Given the description of an element on the screen output the (x, y) to click on. 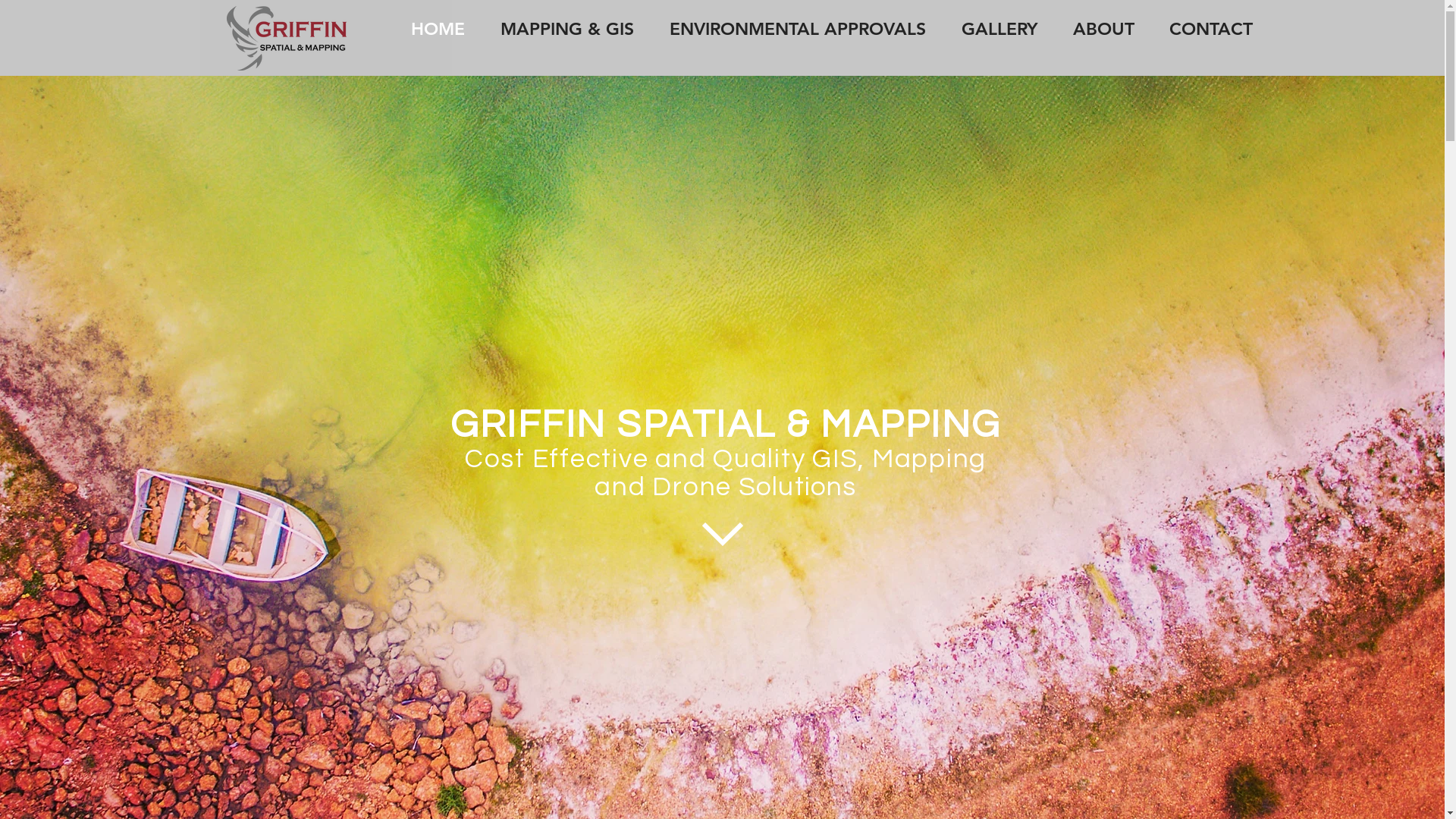
ENVIRONMENTAL APPROVALS Element type: text (798, 29)
HOME Element type: text (437, 29)
MAPPING & GIS Element type: text (566, 29)
GSM_Griffin Colour png.png Element type: hover (288, 37)
ABOUT Element type: text (1103, 29)
GALLERY Element type: text (998, 29)
CONTACT Element type: text (1210, 29)
